Given the description of an element on the screen output the (x, y) to click on. 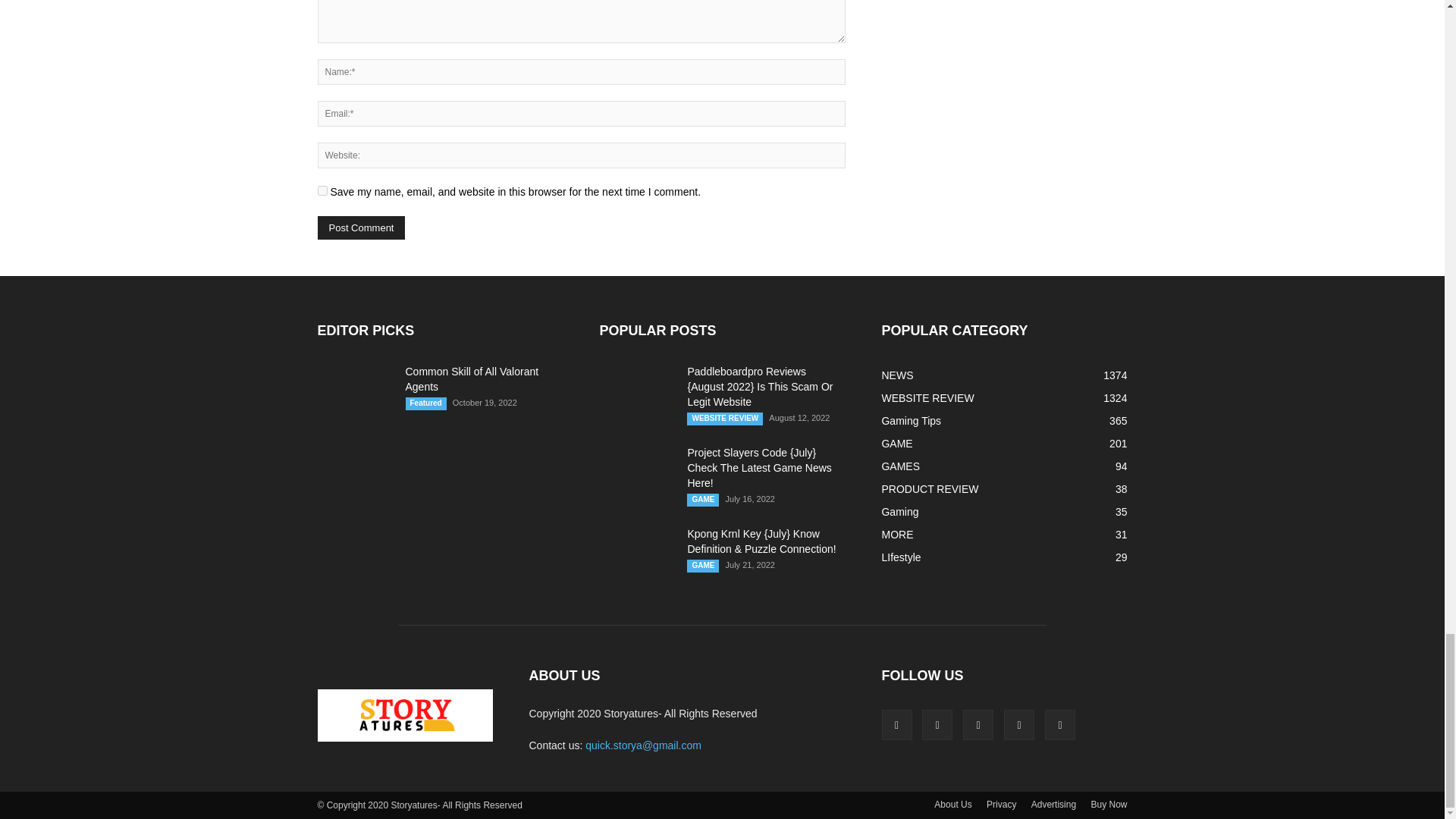
yes (321, 190)
Post Comment (360, 227)
